Given the description of an element on the screen output the (x, y) to click on. 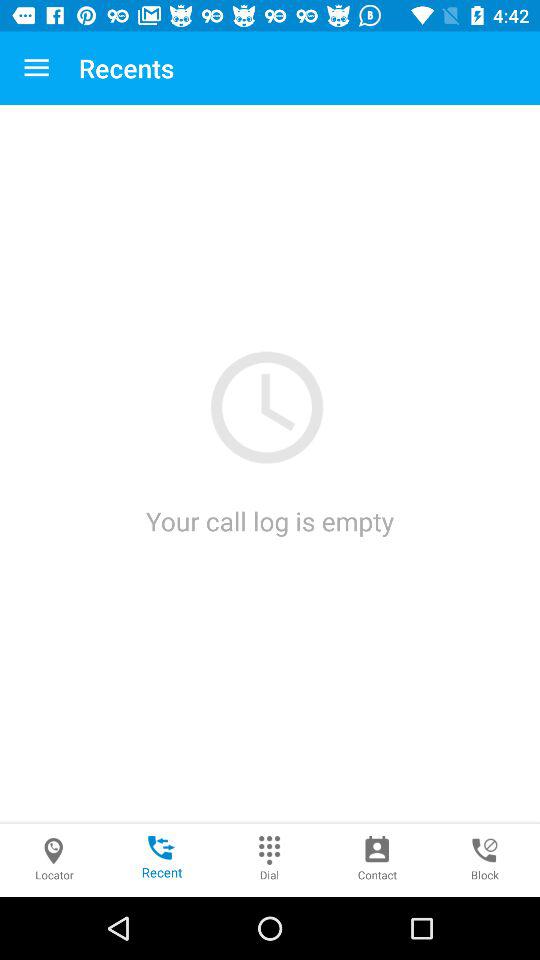
tap the item to the left of the recents app (36, 68)
